Given the description of an element on the screen output the (x, y) to click on. 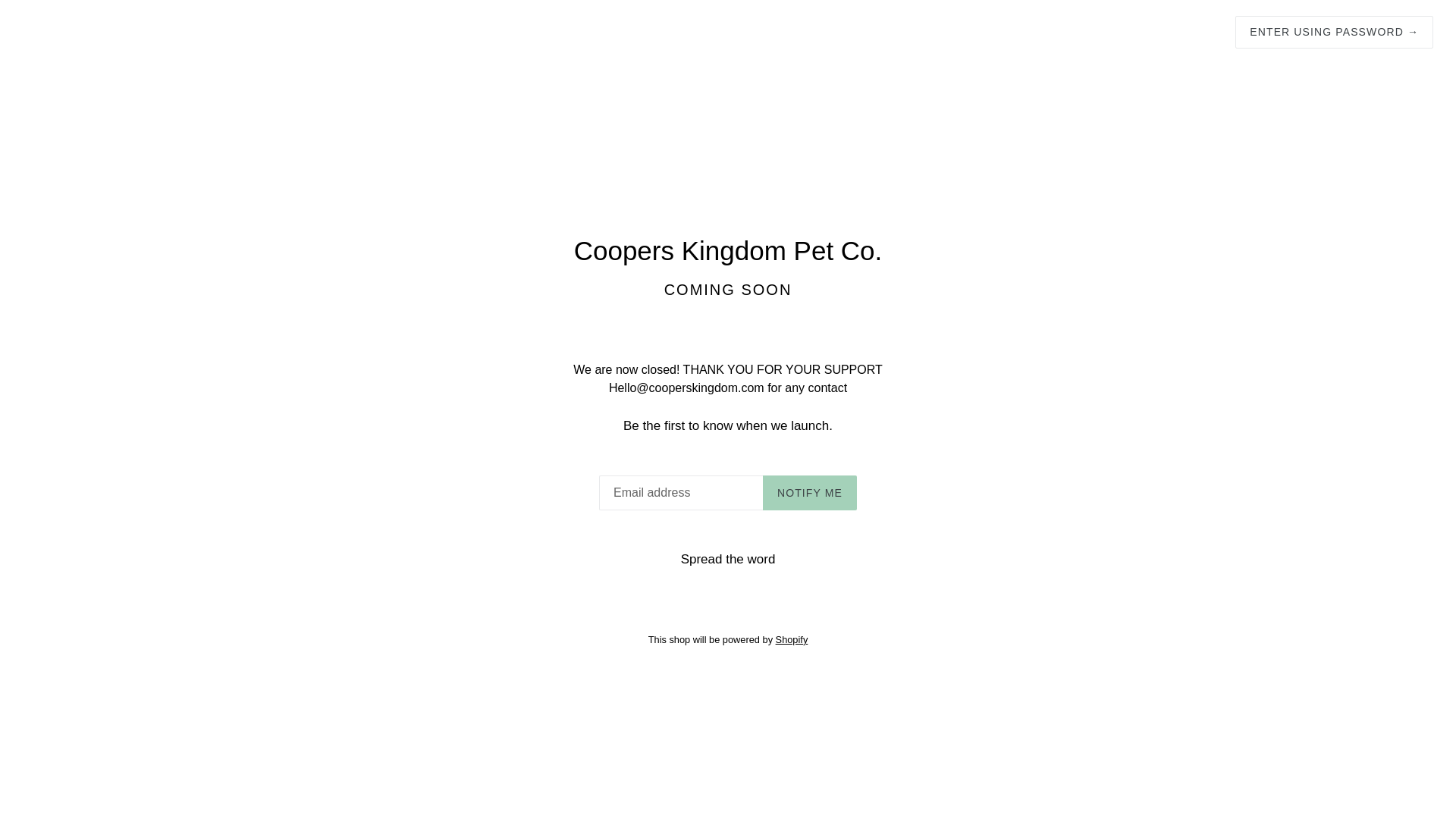
Shopify Element type: text (791, 639)
NOTIFY ME Element type: text (809, 492)
